Given the description of an element on the screen output the (x, y) to click on. 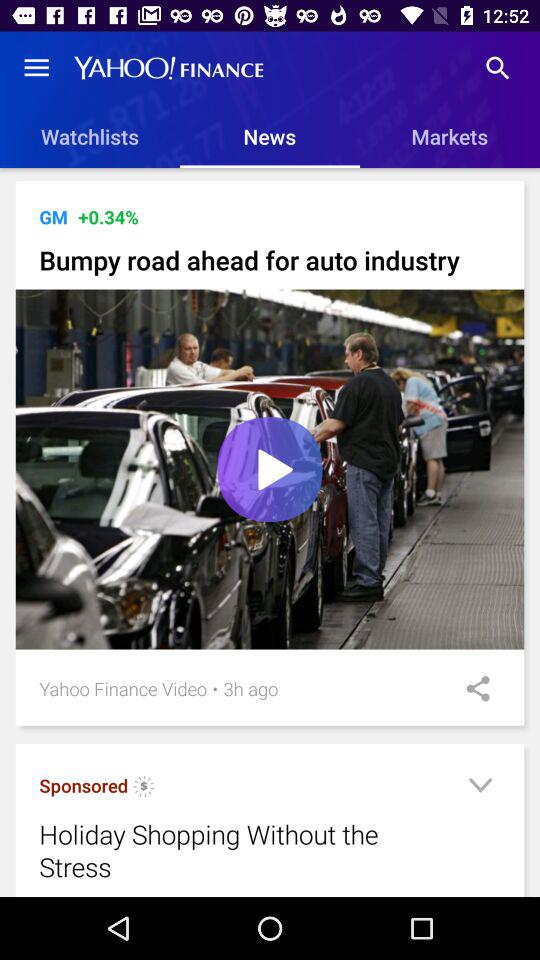
scroll until 3h ago (250, 688)
